Given the description of an element on the screen output the (x, y) to click on. 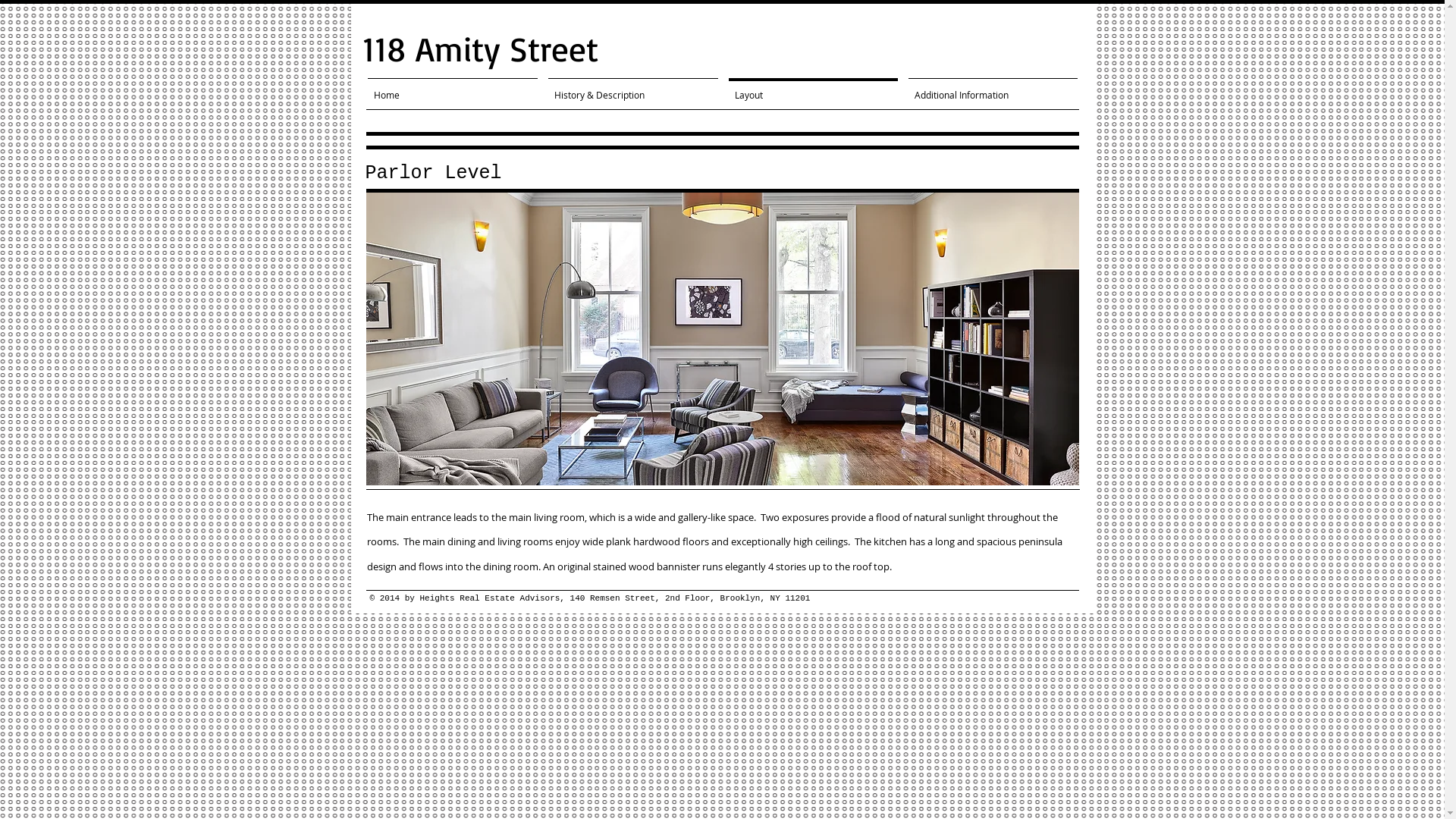
LIVING_ROOM_001.jpg Element type: hover (721, 338)
Additional Information Element type: text (992, 87)
Home Element type: text (452, 87)
Layout Element type: text (813, 87)
History & Description Element type: text (632, 87)
